Given the description of an element on the screen output the (x, y) to click on. 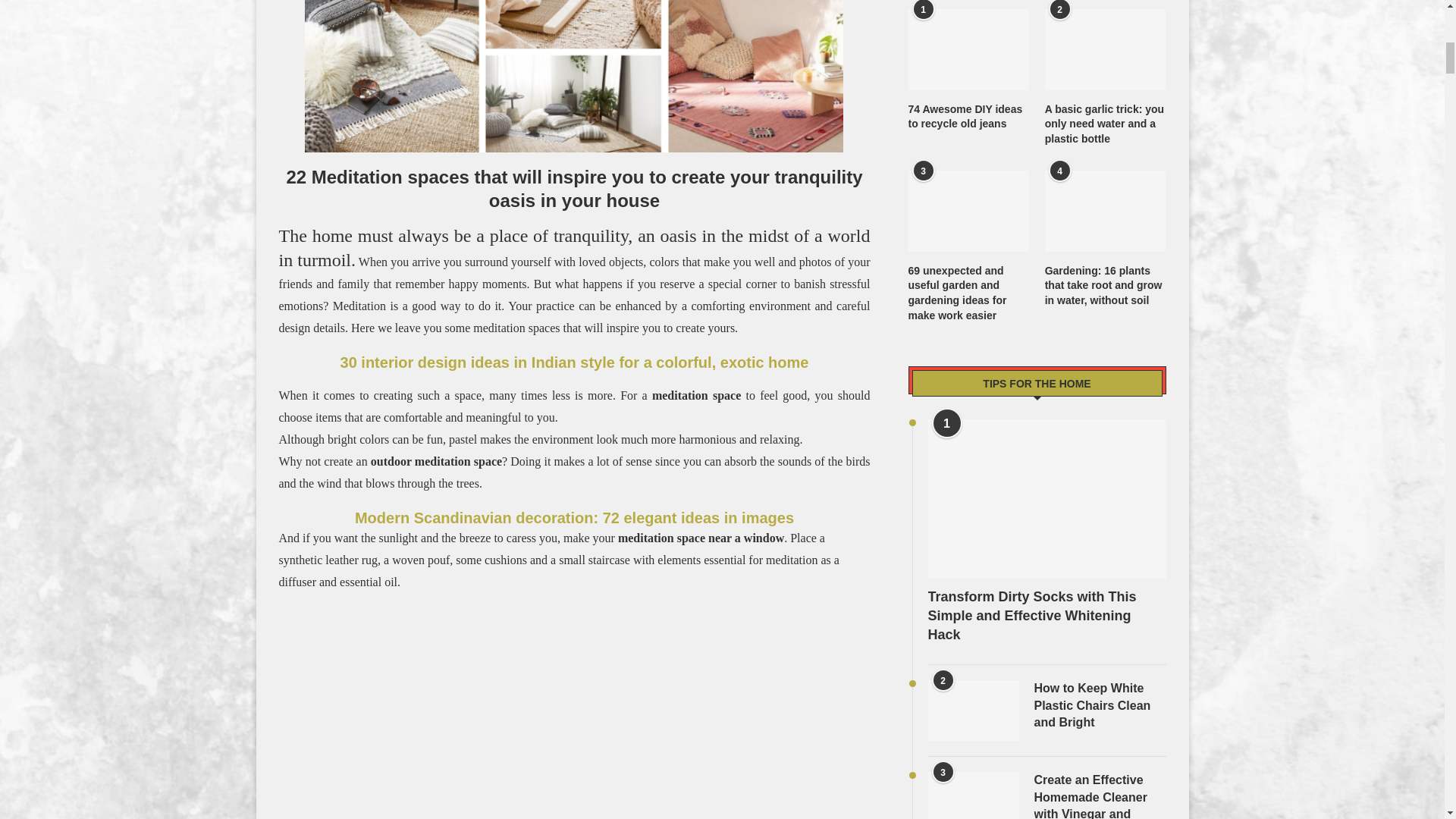
Modern Scandinavian decoration: 72 elegant ideas in images (574, 517)
